Given the description of an element on the screen output the (x, y) to click on. 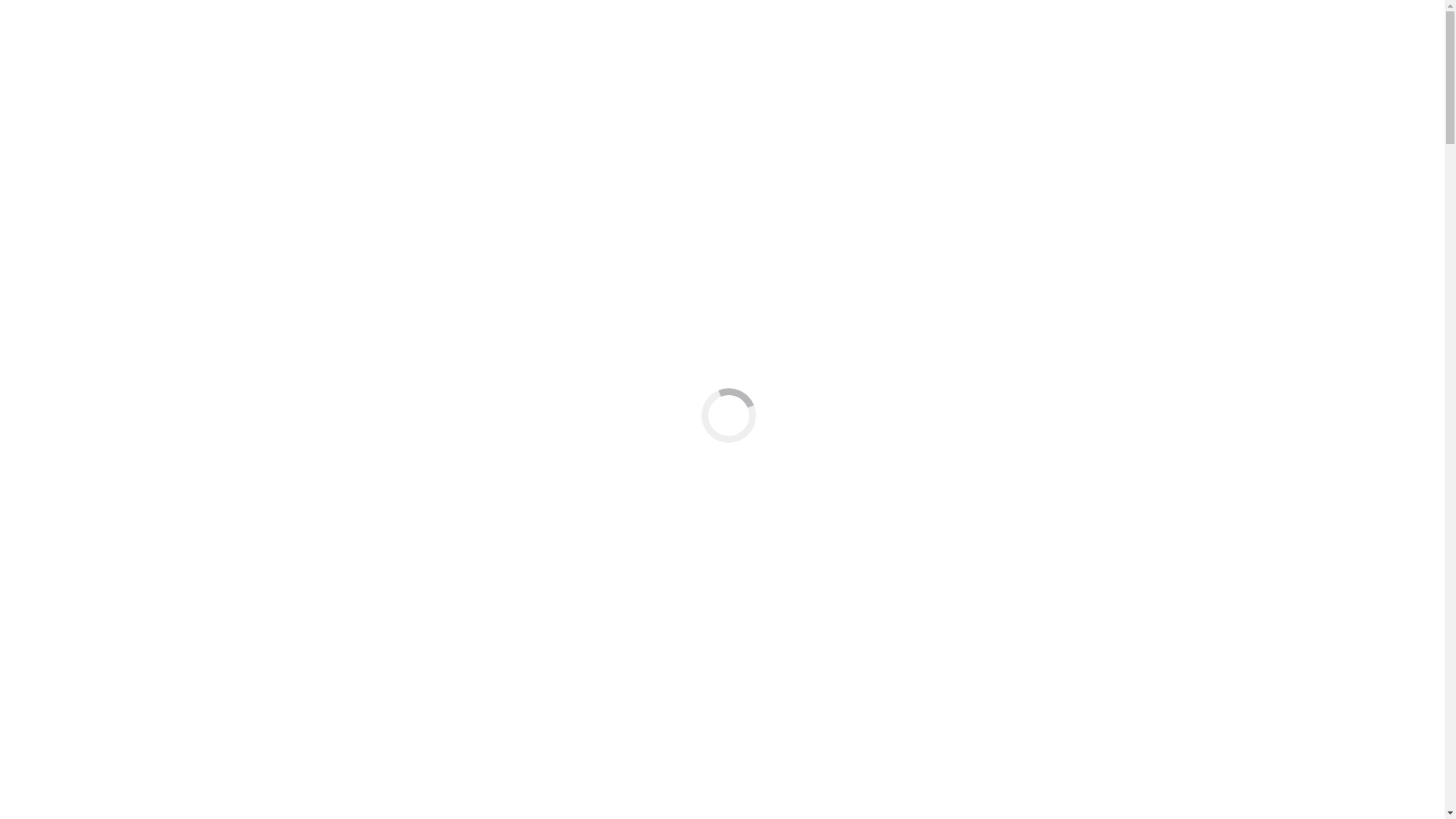
Facebook Element type: text (29, 210)
Services Element type: text (56, 277)
Products Element type: text (57, 157)
Contact Element type: text (55, 291)
Contact Element type: text (55, 184)
Google+ Element type: text (74, 210)
Home Element type: text (50, 130)
Products Element type: text (57, 263)
About Us Element type: text (59, 144)
Home Element type: text (50, 236)
About Us Element type: text (59, 250)
Services Element type: text (56, 171)
